Given the description of an element on the screen output the (x, y) to click on. 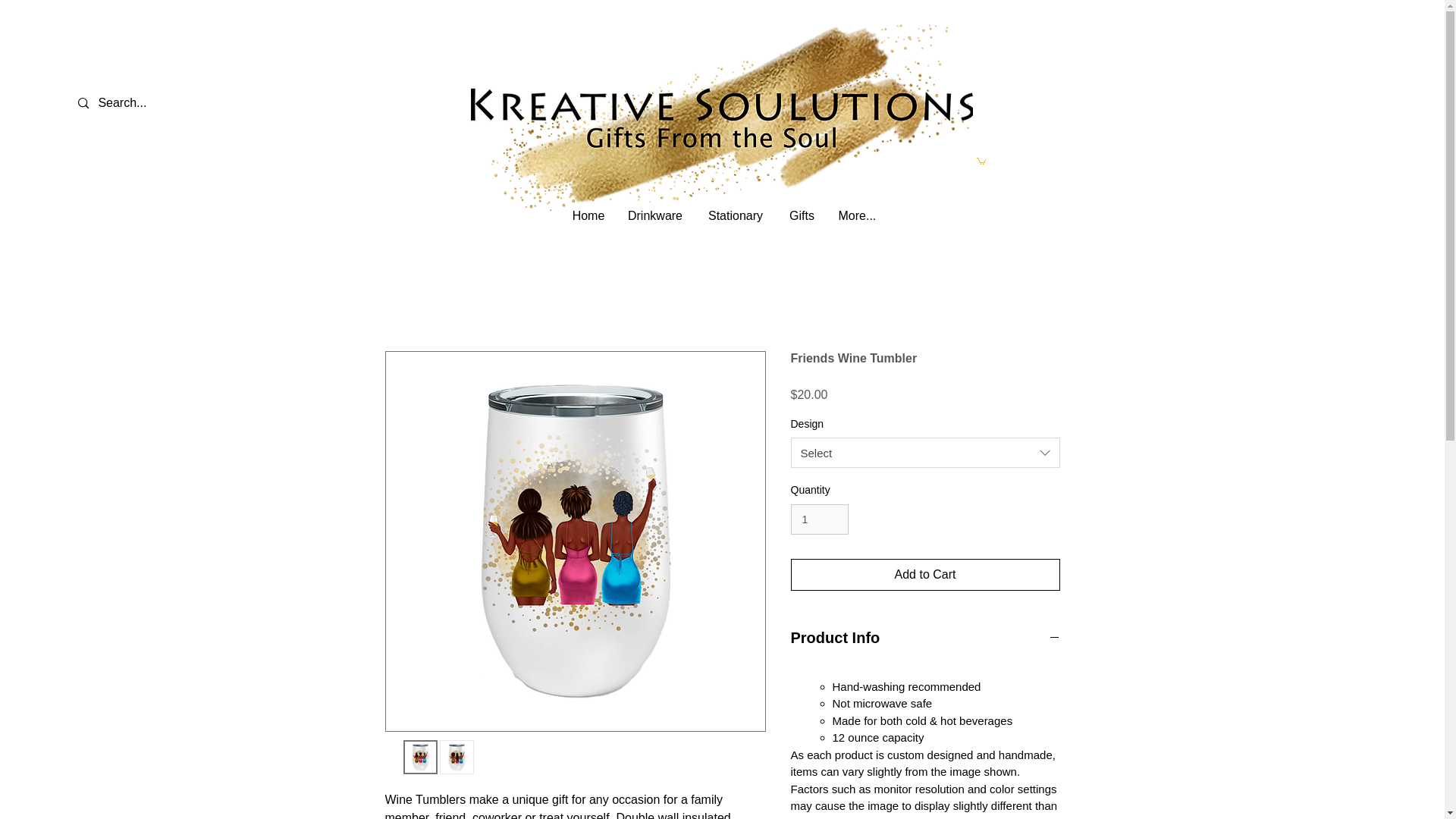
Add to Cart (924, 574)
Home (587, 214)
1 (818, 519)
Product Info (924, 637)
Select (924, 452)
